Given the description of an element on the screen output the (x, y) to click on. 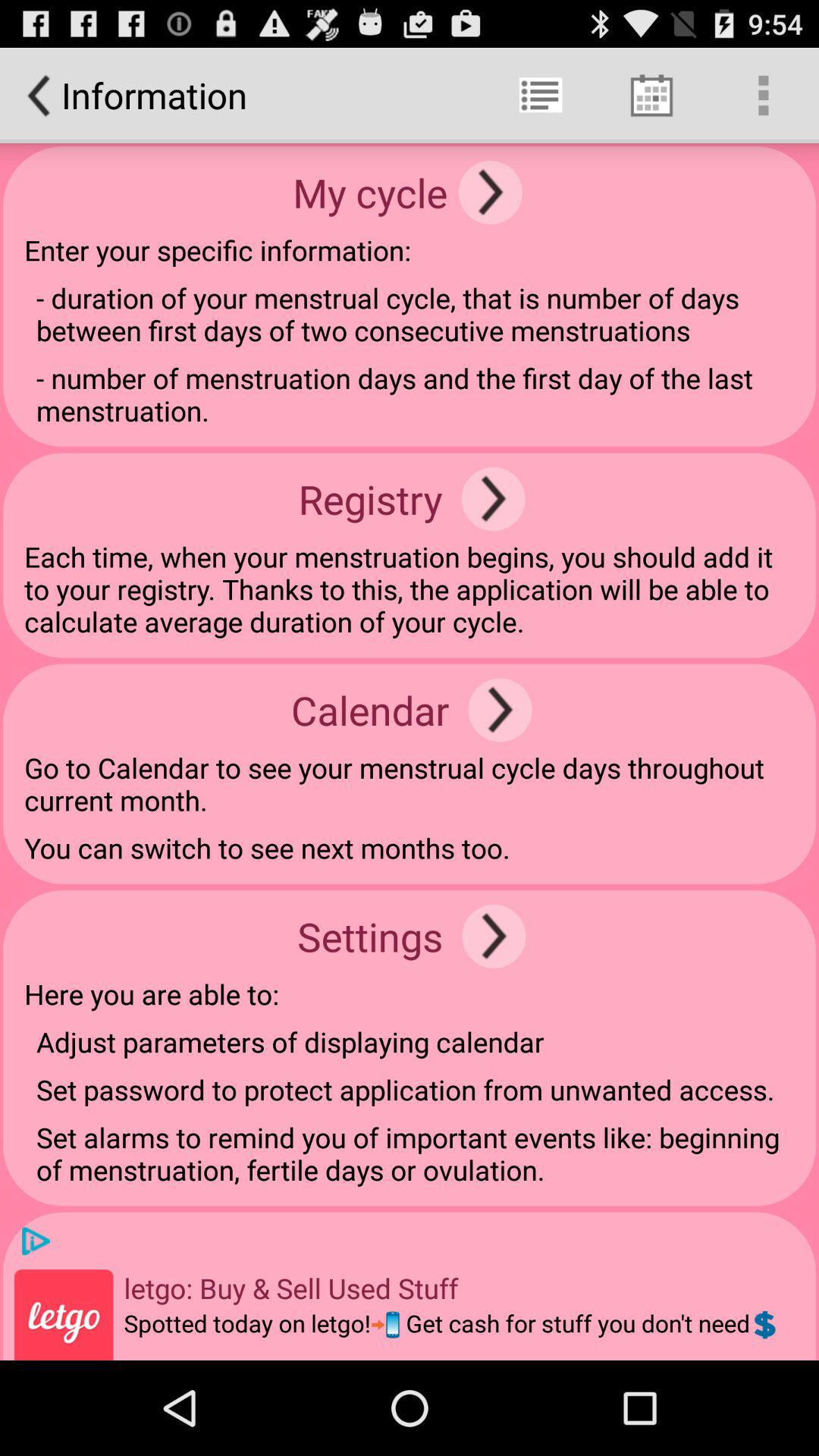
launch the app to the right of the my cycle icon (490, 192)
